Given the description of an element on the screen output the (x, y) to click on. 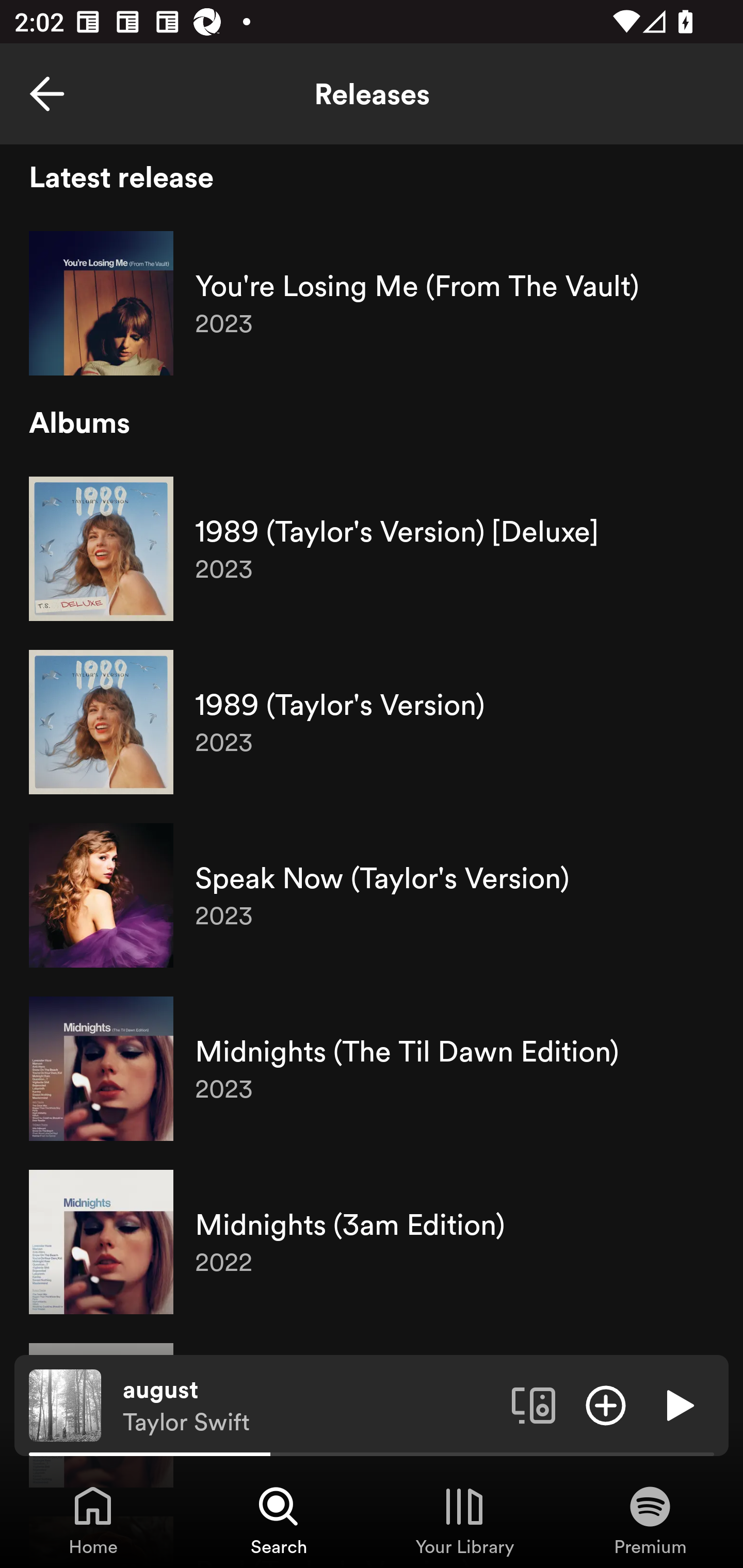
Back (46, 93)
You're Losing Me (From The Vault) 2023 (371, 303)
1989 (Taylor's Version) [Deluxe] 2023 (371, 548)
1989 (Taylor's Version) 2023 (371, 722)
Speak Now (Taylor's Version) 2023 (371, 895)
Midnights (The Til Dawn Edition) 2023 (371, 1068)
Midnights (3am Edition) 2022 (371, 1241)
august Taylor Swift (309, 1405)
The cover art of the currently playing track (64, 1404)
Connect to a device. Opens the devices menu (533, 1404)
Add item (605, 1404)
Play (677, 1404)
Home, Tab 1 of 4 Home Home (92, 1519)
Search, Tab 2 of 4 Search Search (278, 1519)
Your Library, Tab 3 of 4 Your Library Your Library (464, 1519)
Premium, Tab 4 of 4 Premium Premium (650, 1519)
